Given the description of an element on the screen output the (x, y) to click on. 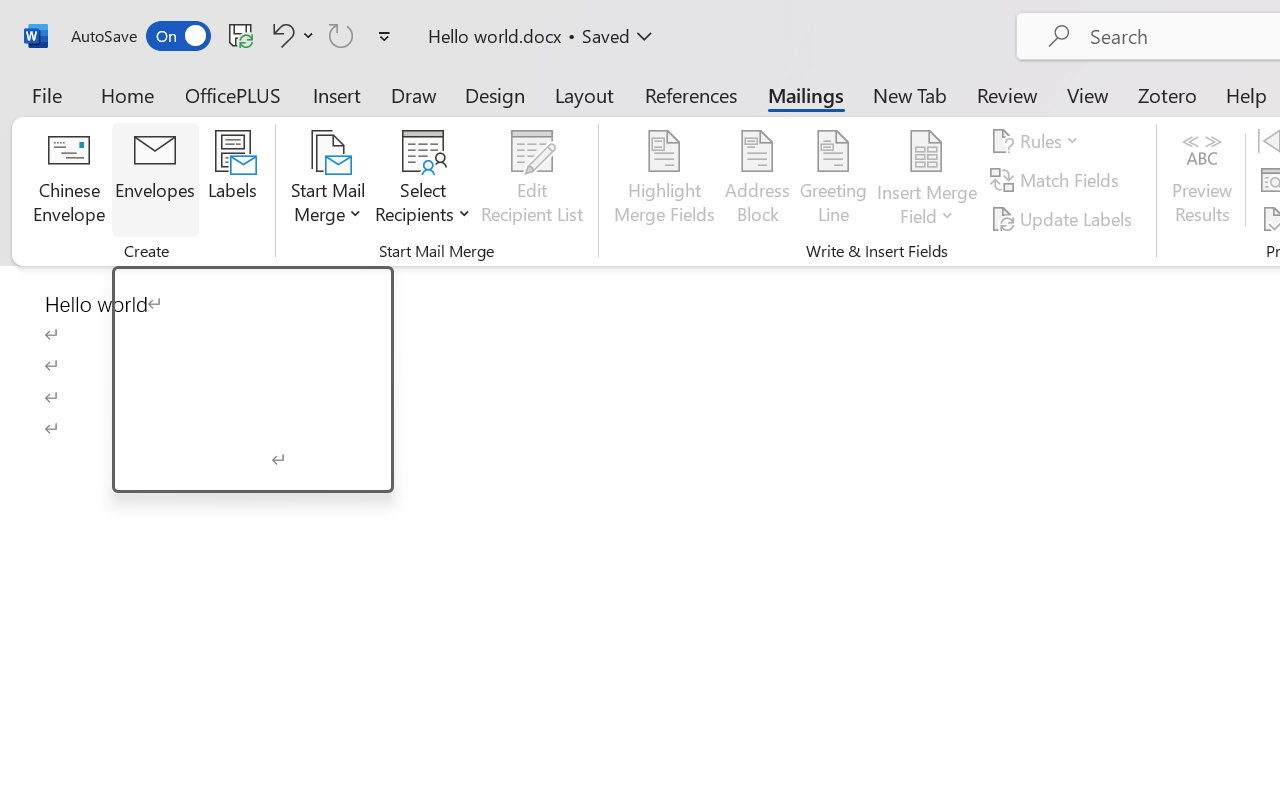
References (690, 94)
Undo Click and Type Formatting (280, 35)
Edit Recipient List... (532, 179)
Can't Repeat (341, 35)
OfficePLUS (233, 94)
Design (495, 94)
More Options (927, 208)
Insert Merge Field (927, 151)
Tell me more (273, 470)
Insert (337, 94)
Zotero (1166, 94)
Select Recipients (423, 179)
Layout (584, 94)
